Given the description of an element on the screen output the (x, y) to click on. 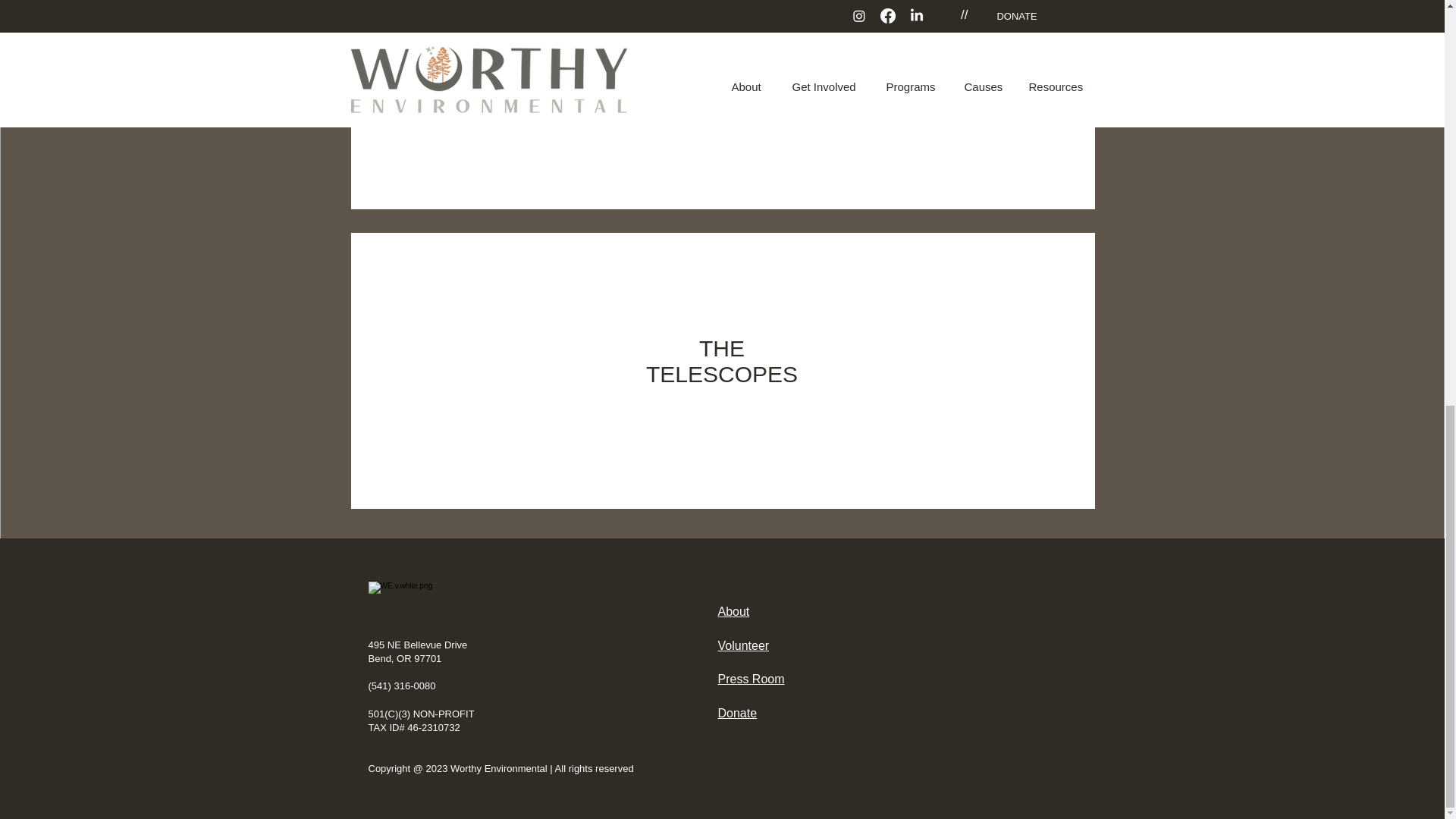
Press Room (750, 678)
Volunteer (742, 645)
Donate (737, 712)
About (733, 611)
